Given the description of an element on the screen output the (x, y) to click on. 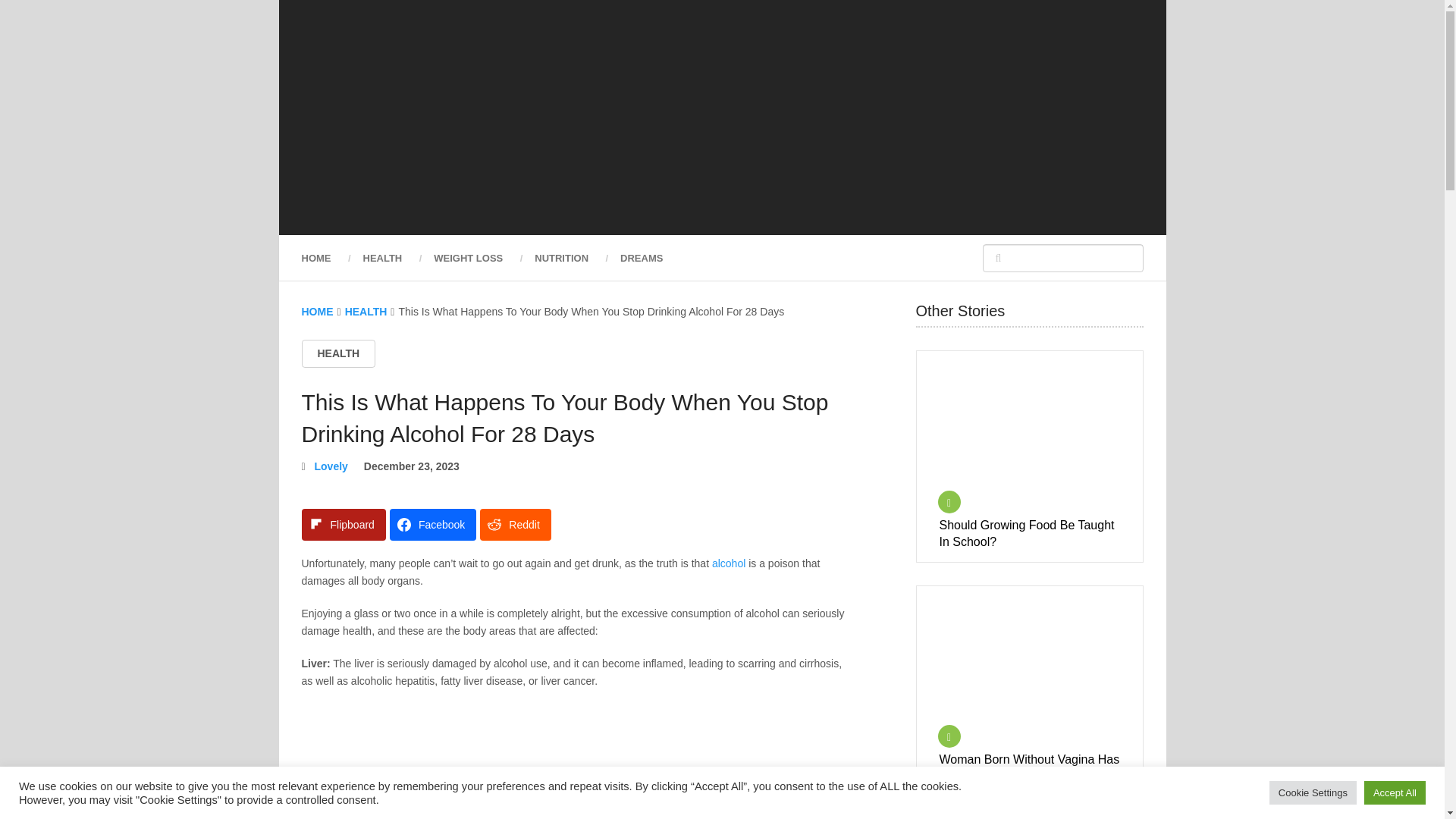
Posts by Lovely (330, 466)
View all posts in Health (338, 353)
alcohol (728, 563)
Share on Reddit (515, 524)
Share on Flipboard (343, 524)
NUTRITION (561, 257)
WEIGHT LOSS (467, 257)
Facebook (433, 524)
Reddit (515, 524)
HEALTH (366, 311)
